Given the description of an element on the screen output the (x, y) to click on. 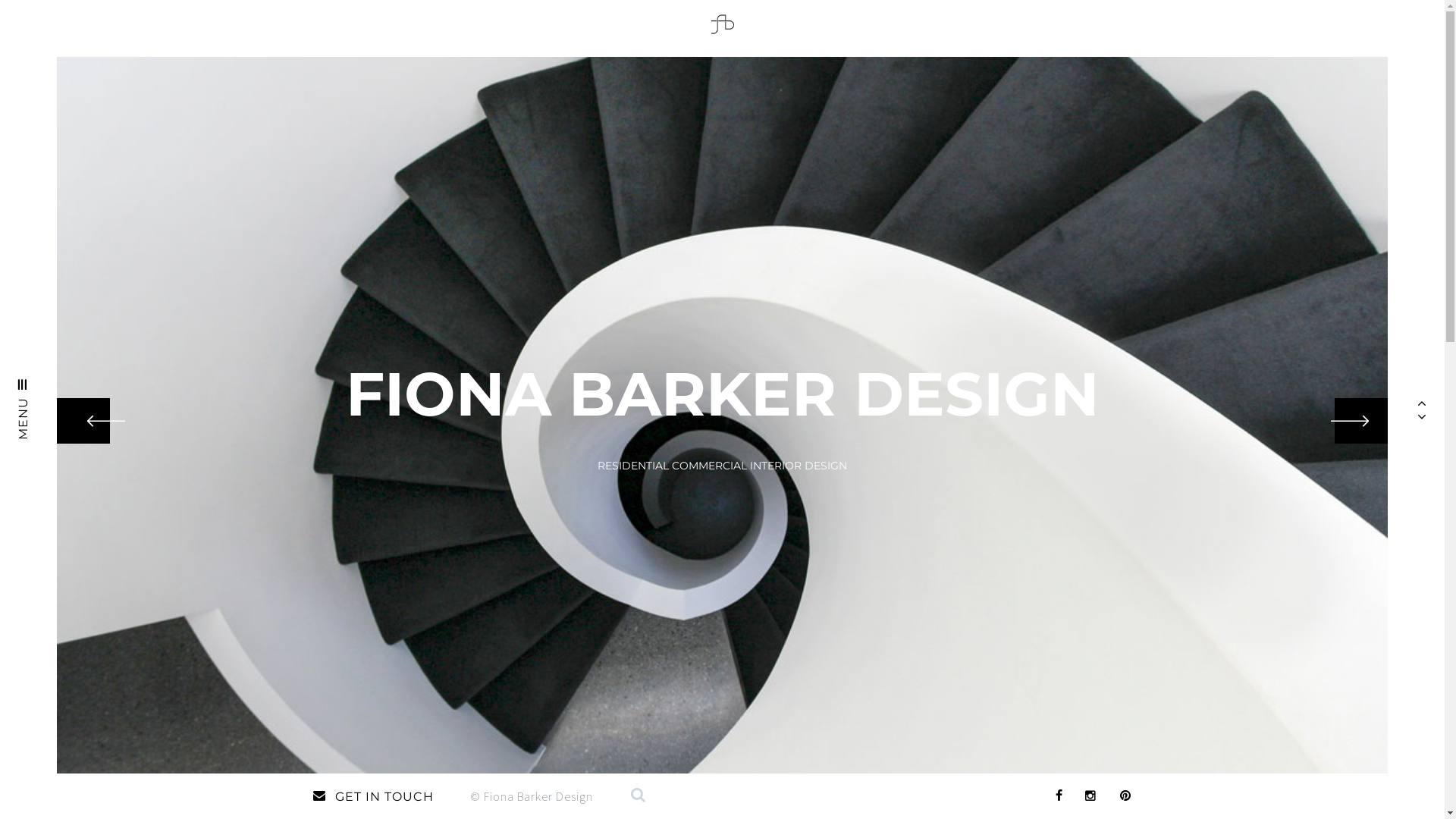
GET IN TOUCH Element type: text (389, 795)
